Given the description of an element on the screen output the (x, y) to click on. 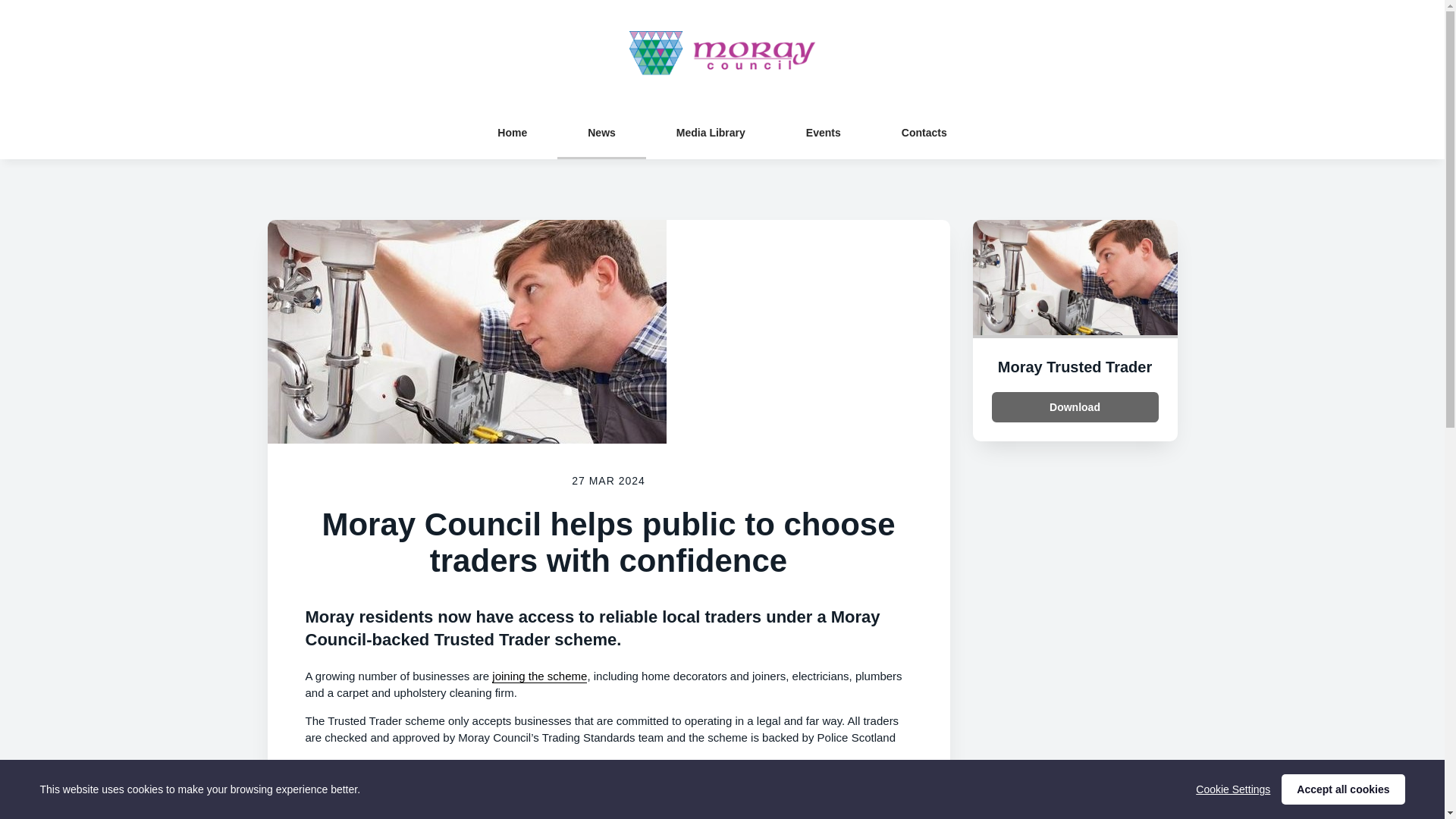
Home (512, 132)
Moray Trusted Trader (1074, 366)
joining the scheme (539, 676)
Download (1074, 407)
News (601, 132)
Media Library (711, 132)
Contacts (923, 132)
Events (823, 132)
Accept all cookies (1343, 788)
Cookie Settings (1232, 788)
